Given the description of an element on the screen output the (x, y) to click on. 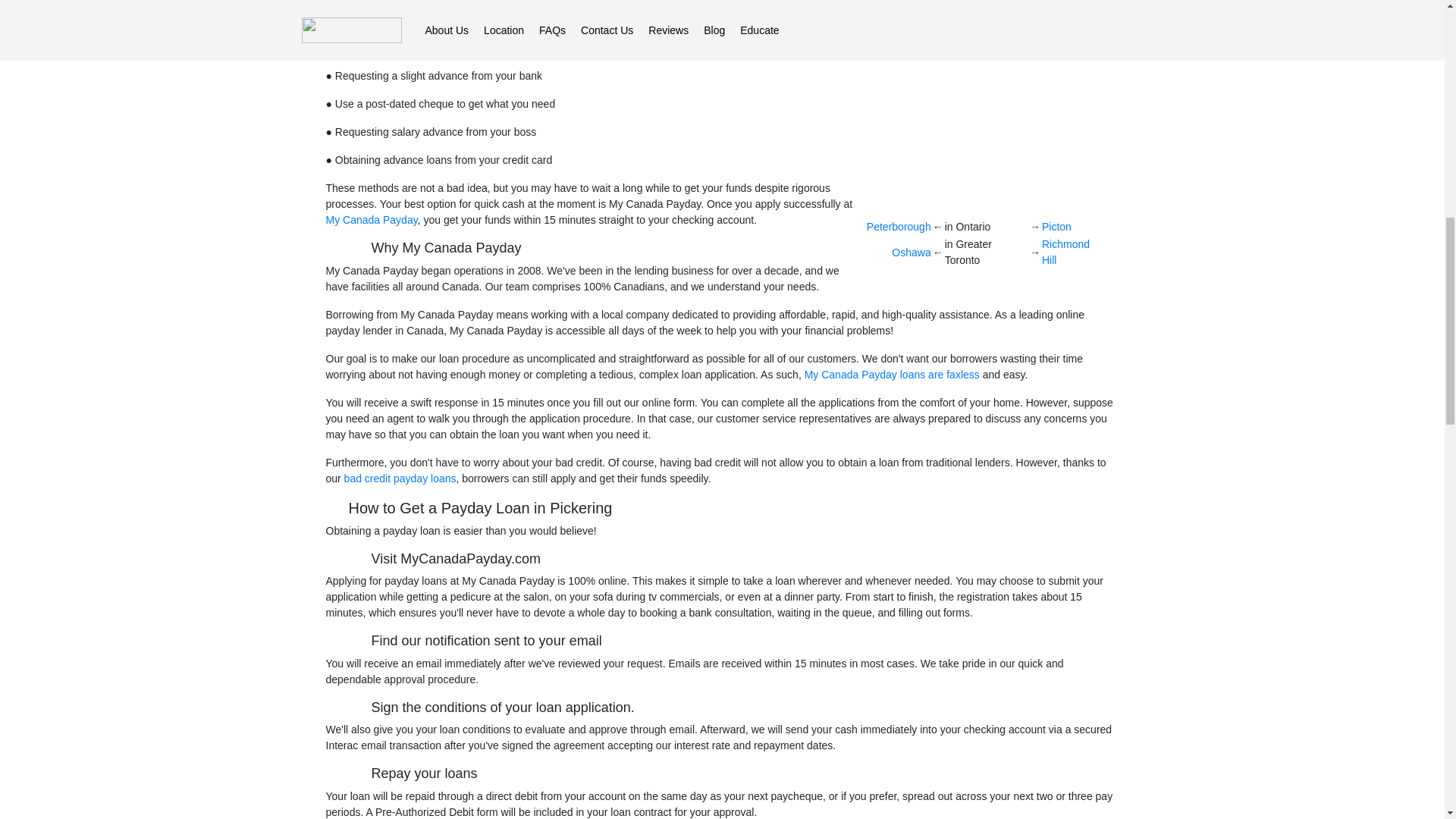
Peterborough (898, 226)
Richmond Hill (1065, 252)
My Canada Payday (371, 219)
My Canada Payday loans are faxless (890, 374)
Picton (1056, 226)
Home (891, 3)
Ontario (941, 3)
Greater Toronto (1013, 3)
bad credit payday loans (398, 478)
Oshawa (910, 251)
